Given the description of an element on the screen output the (x, y) to click on. 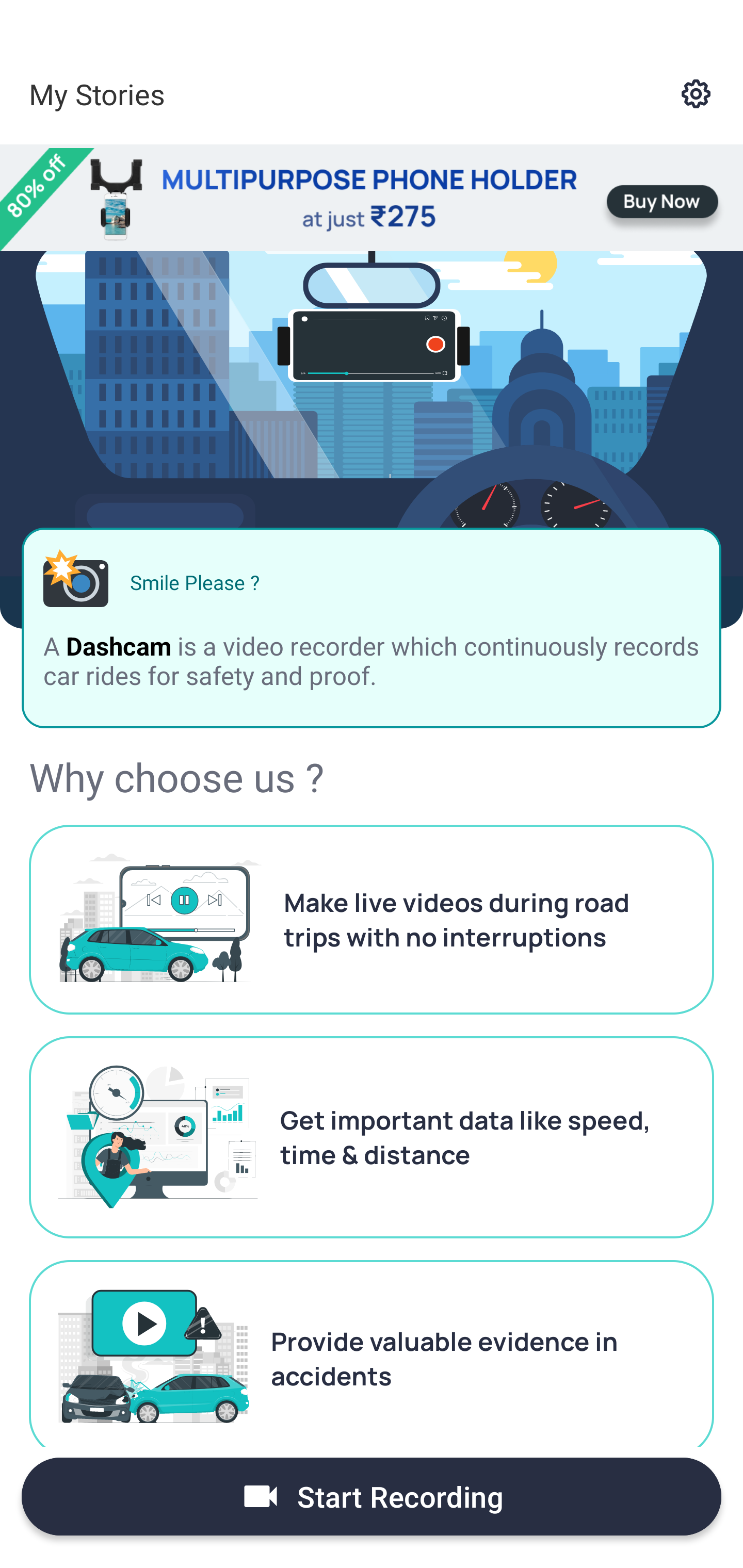
More options (699, 93)
Start Recording (371, 1496)
